Given the description of an element on the screen output the (x, y) to click on. 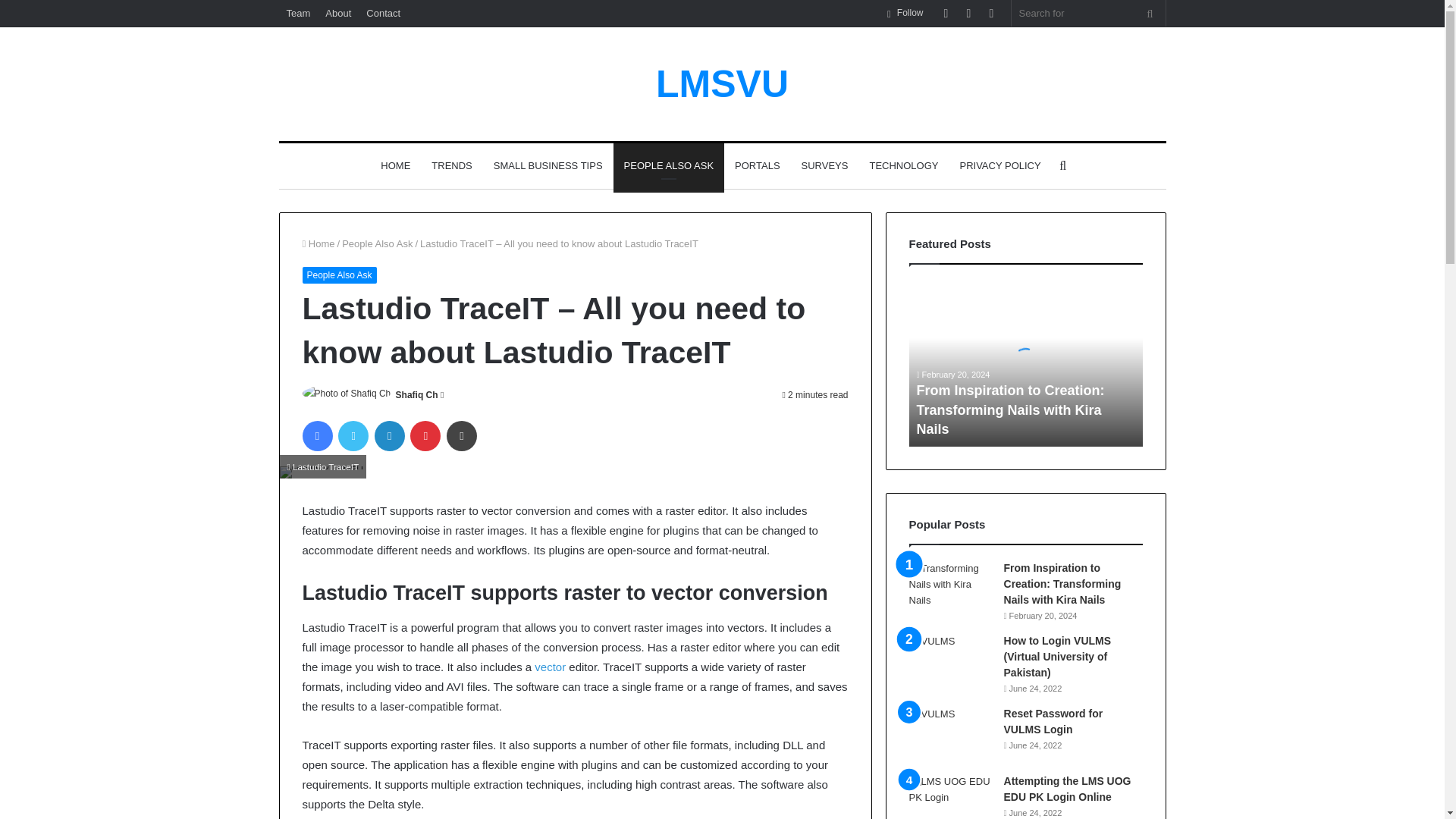
PRIVACY POLICY (1000, 166)
HOME (394, 166)
TECHNOLOGY (904, 166)
PEOPLE ALSO ASK (668, 166)
Home (317, 243)
Facebook (316, 435)
Follow (905, 13)
LinkedIn (389, 435)
Print (461, 435)
Shafiq Ch (417, 394)
